Given the description of an element on the screen output the (x, y) to click on. 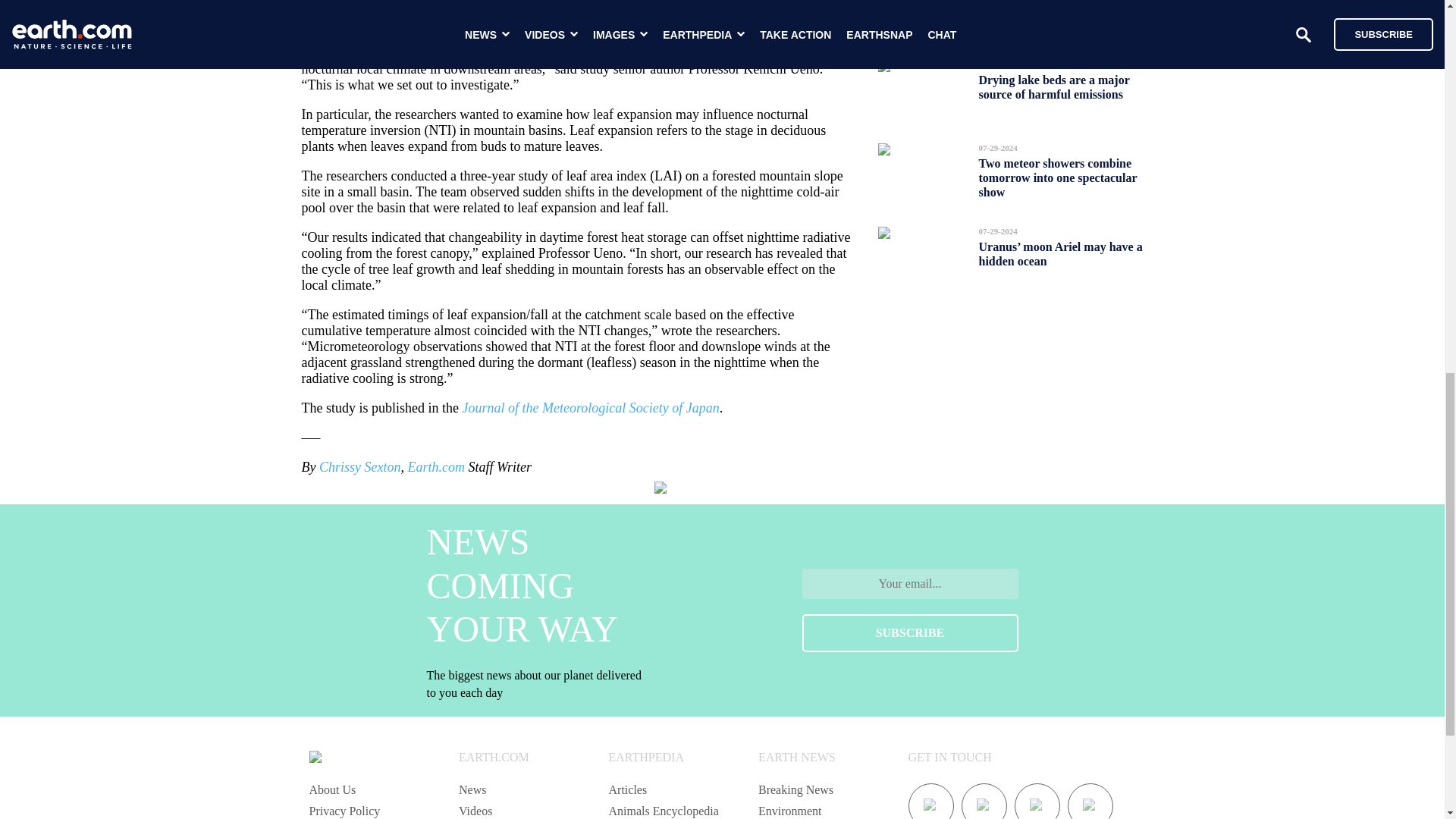
Journal of the Meteorological Society of Japan (590, 407)
Rock art reveals early human ties with Amazon animals (1054, 12)
Drying lake beds are a major source of harmful emissions (1053, 87)
Earth.com (435, 467)
Chrissy Sexton (359, 467)
SUBSCRIBE (909, 632)
